Given the description of an element on the screen output the (x, y) to click on. 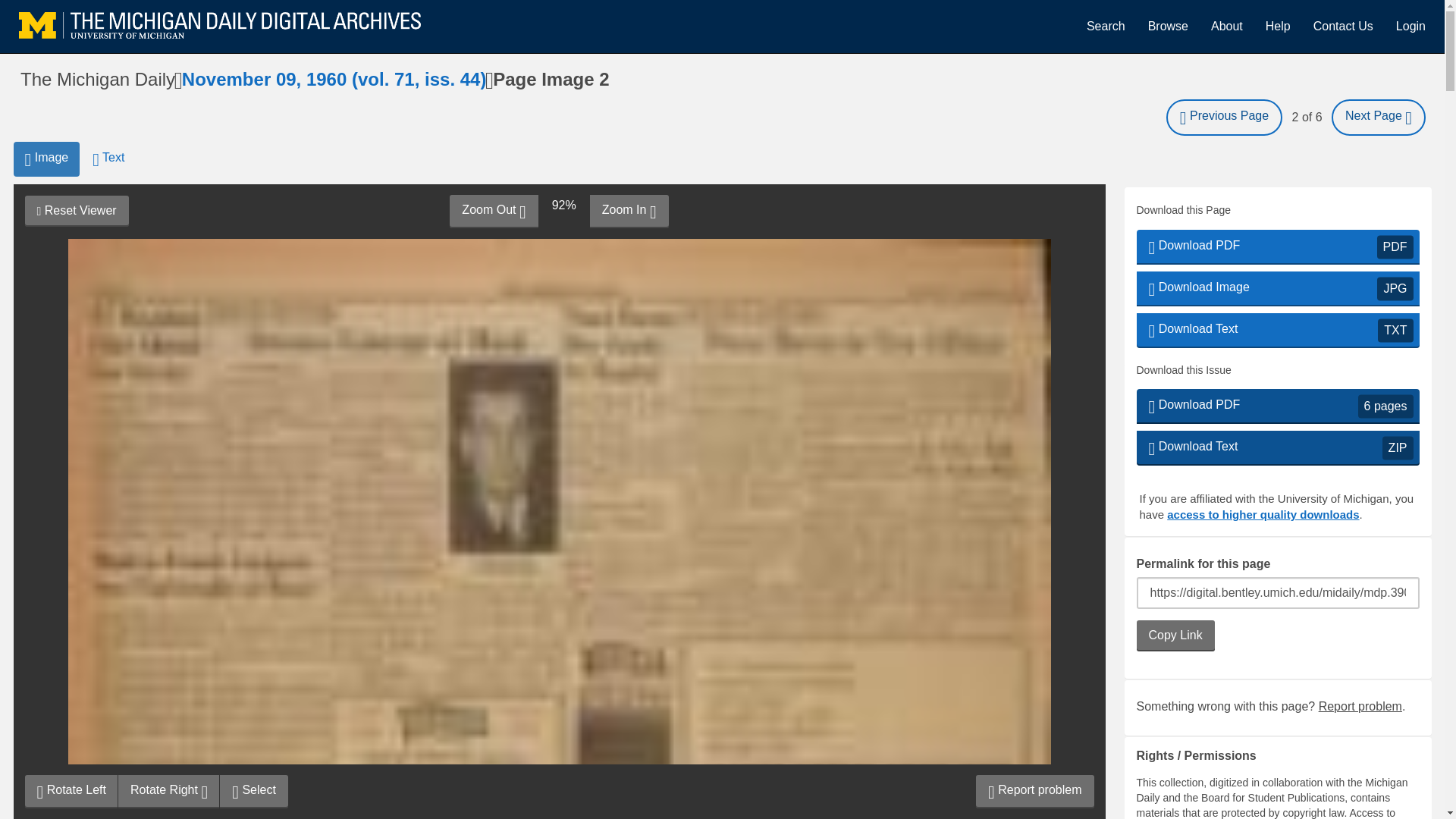
Help (1277, 26)
Rotate Left (70, 791)
Login (1276, 288)
Previous Page (1410, 26)
Zoom Out (1224, 117)
Contact Us (493, 211)
Zoom In (1342, 26)
Report problem (628, 211)
Browse (1360, 706)
Image (1168, 26)
Reset Viewer (46, 158)
Next Page (76, 210)
